Given the description of an element on the screen output the (x, y) to click on. 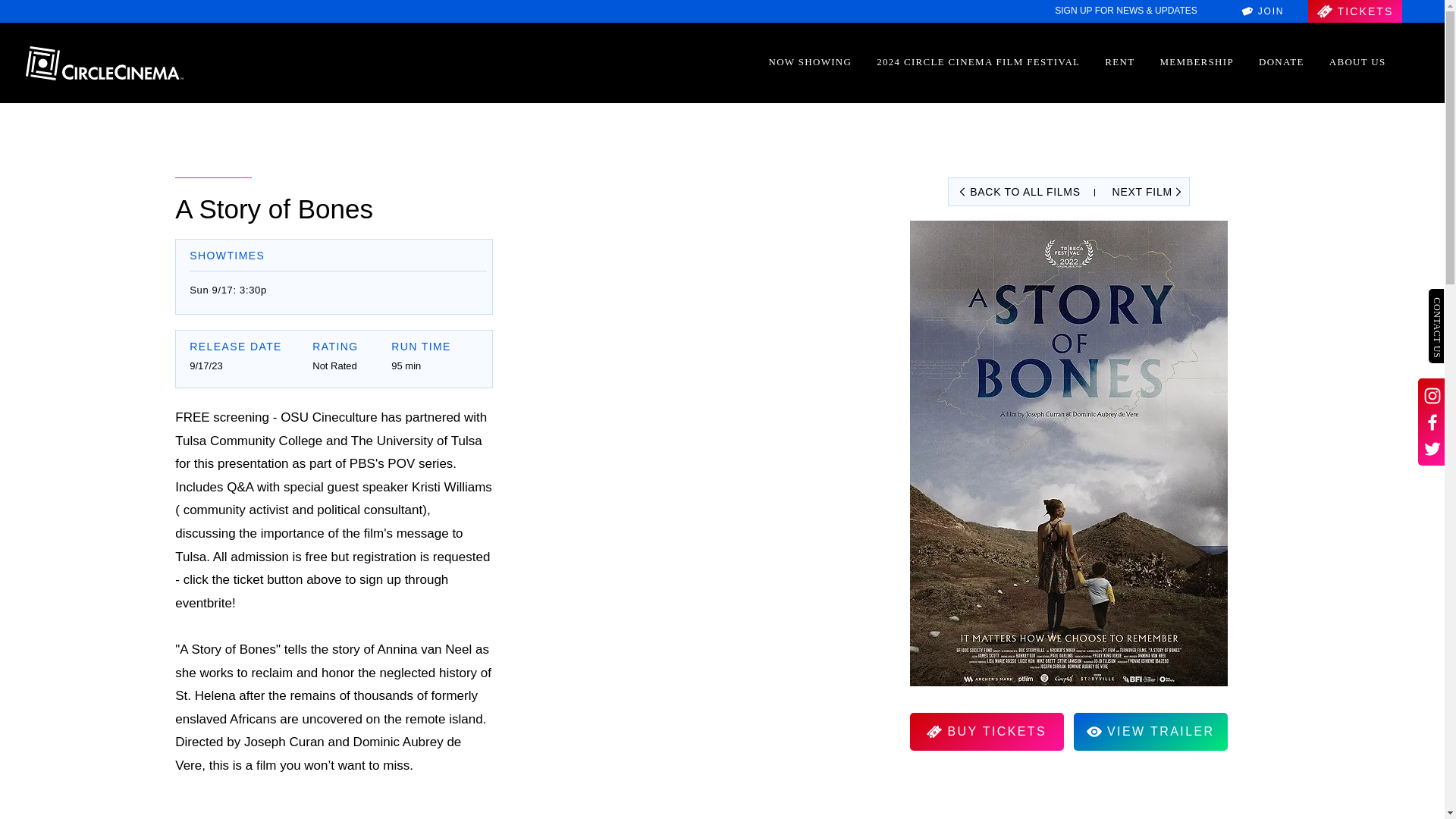
ABOUT US (1356, 62)
BACK TO ALL FILMS (1017, 190)
JOIN (1261, 11)
VIEW TRAILER (1150, 731)
NEXT FILM (1145, 190)
NOW SHOWING (809, 62)
RENT (1120, 62)
DONATE (1281, 62)
MEMBERSHIP (1196, 62)
2024 CIRCLE CINEMA FILM FESTIVAL (978, 62)
TICKETS (1354, 11)
BUY TICKETS (987, 731)
